Given the description of an element on the screen output the (x, y) to click on. 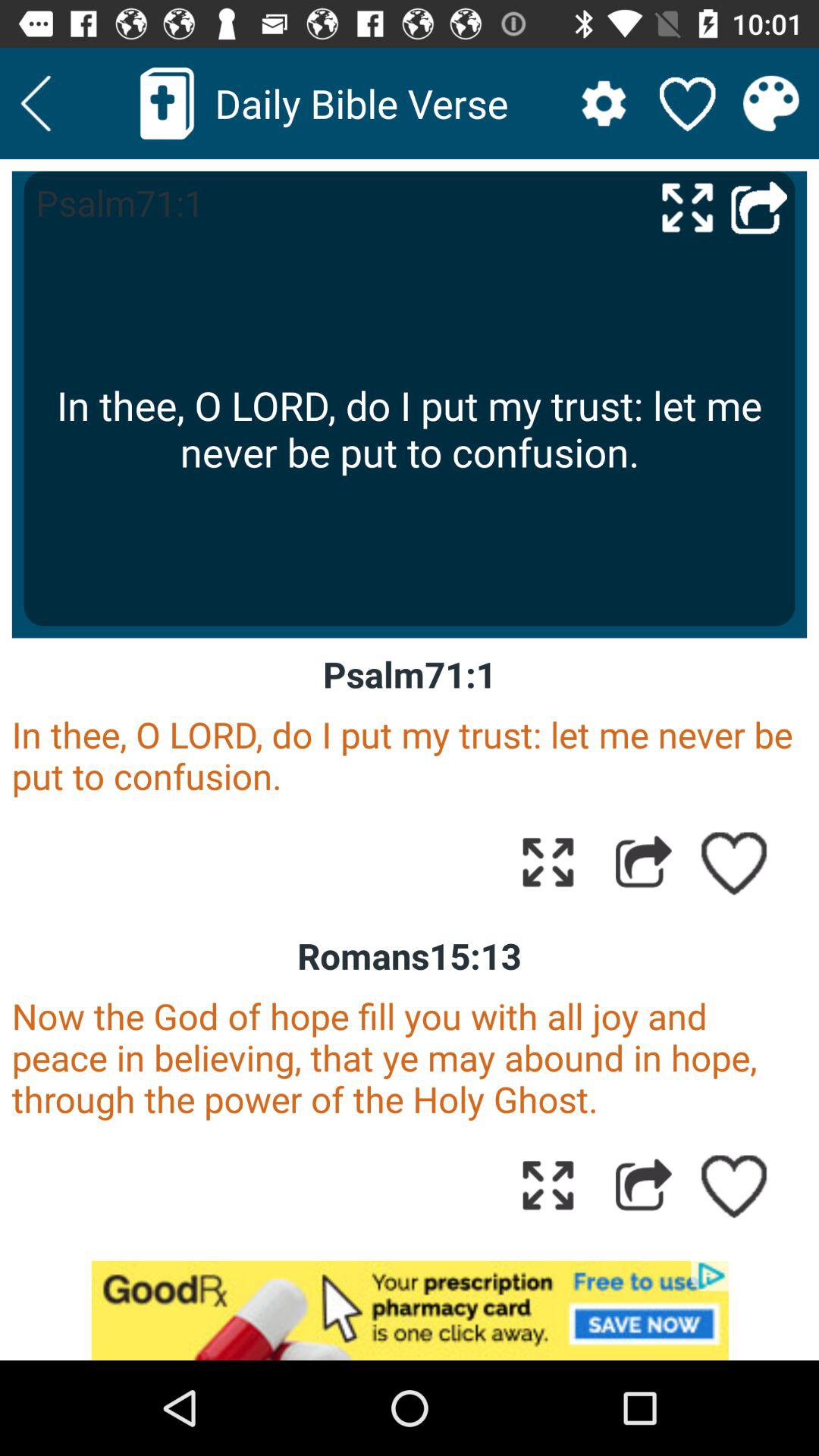
add to favorites (735, 861)
